Given the description of an element on the screen output the (x, y) to click on. 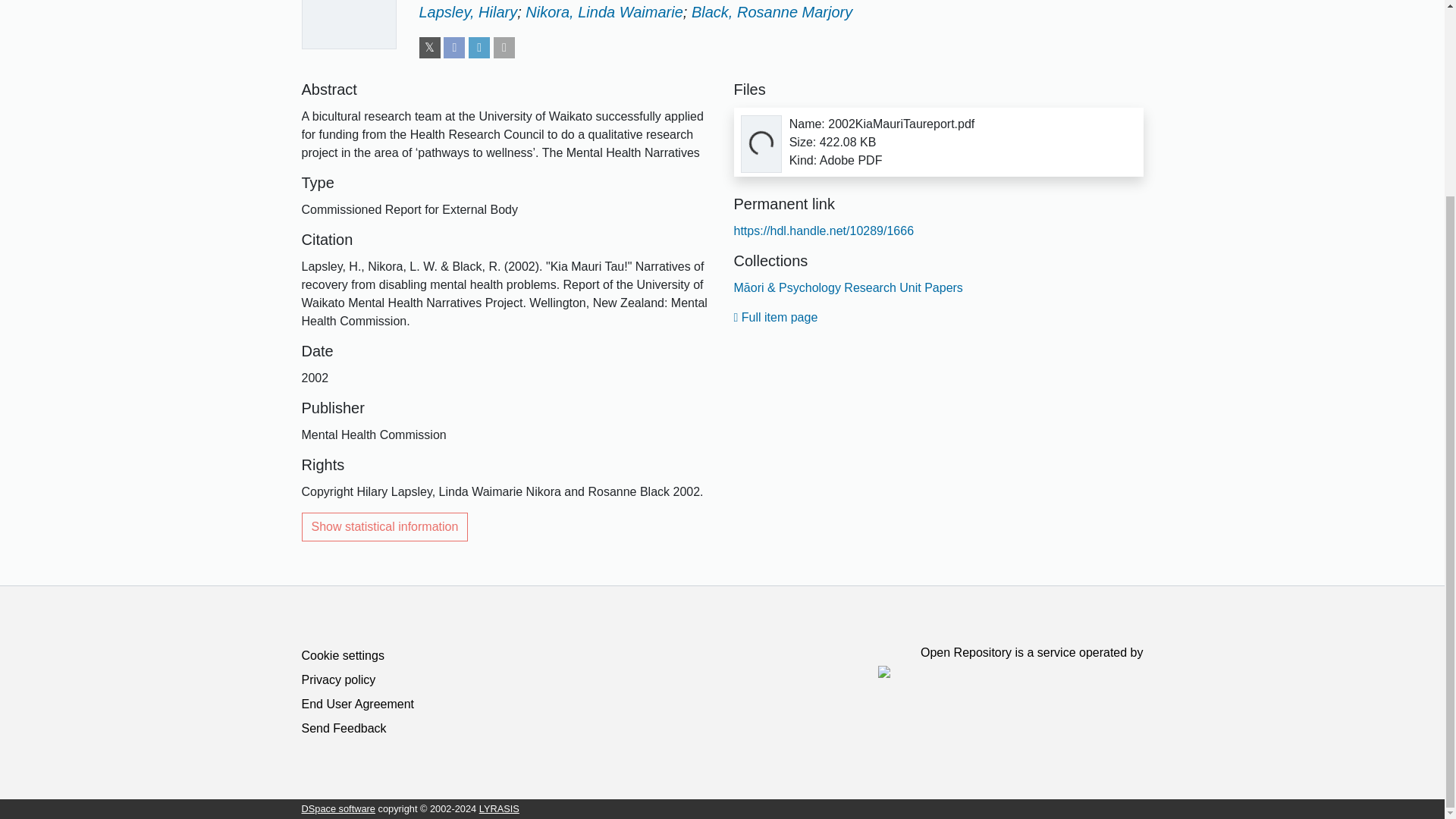
Full item page (775, 317)
Nikora, Linda Waimarie (603, 12)
Show statistical information (384, 526)
Black, Rosanne Marjory (771, 12)
Lapsley, Hilary (467, 12)
Cookie settings (342, 655)
